Given the description of an element on the screen output the (x, y) to click on. 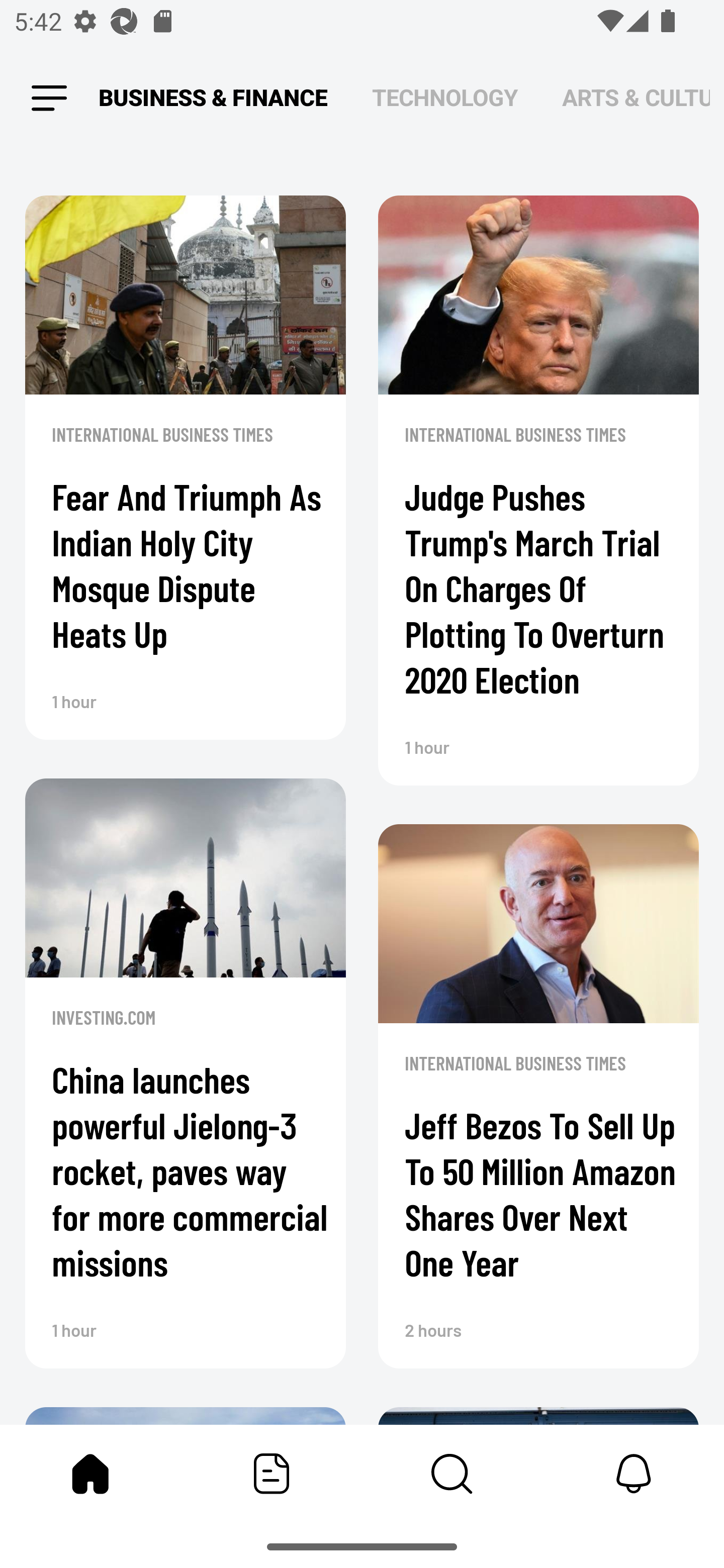
Leading Icon (49, 98)
TECHNOLOGY (444, 97)
ARTS & CULTURE (635, 97)
Featured (271, 1473)
Content Store (452, 1473)
Notifications (633, 1473)
